Given the description of an element on the screen output the (x, y) to click on. 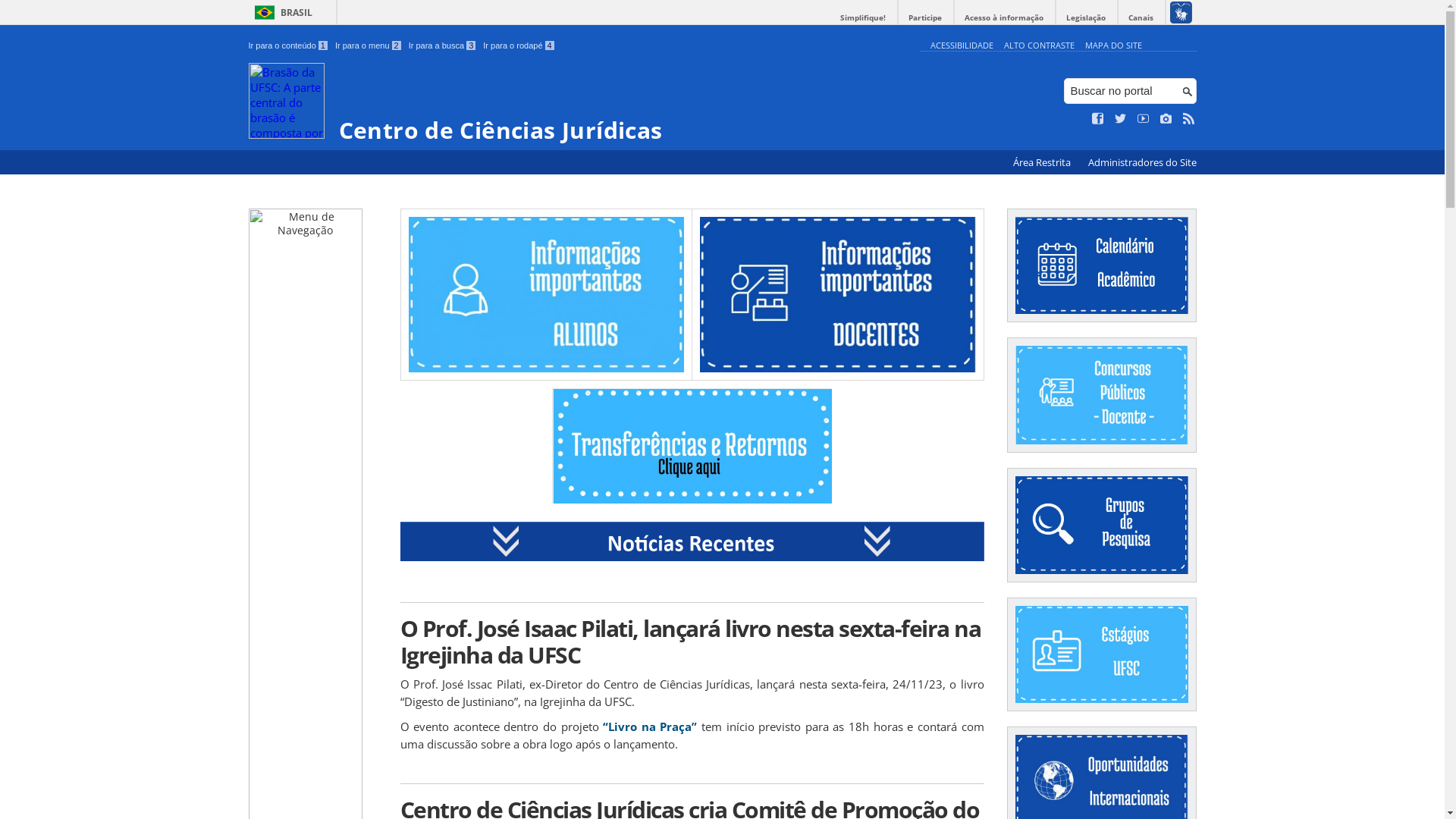
Simplifique! Element type: text (862, 18)
MAPA DO SITE Element type: text (1112, 44)
Curta no Facebook Element type: hover (1098, 118)
Veja no Instagram Element type: hover (1166, 118)
Ir para o menu 2 Element type: text (368, 45)
ALTO CONTRASTE Element type: text (1039, 44)
Participe Element type: text (924, 18)
ACESSIBILIDADE Element type: text (960, 44)
Ir para a busca 3 Element type: text (442, 45)
Canais Element type: text (1140, 18)
BRASIL Element type: text (280, 12)
Siga no Twitter Element type: hover (1120, 118)
Administradores do Site Element type: text (1141, 162)
